Given the description of an element on the screen output the (x, y) to click on. 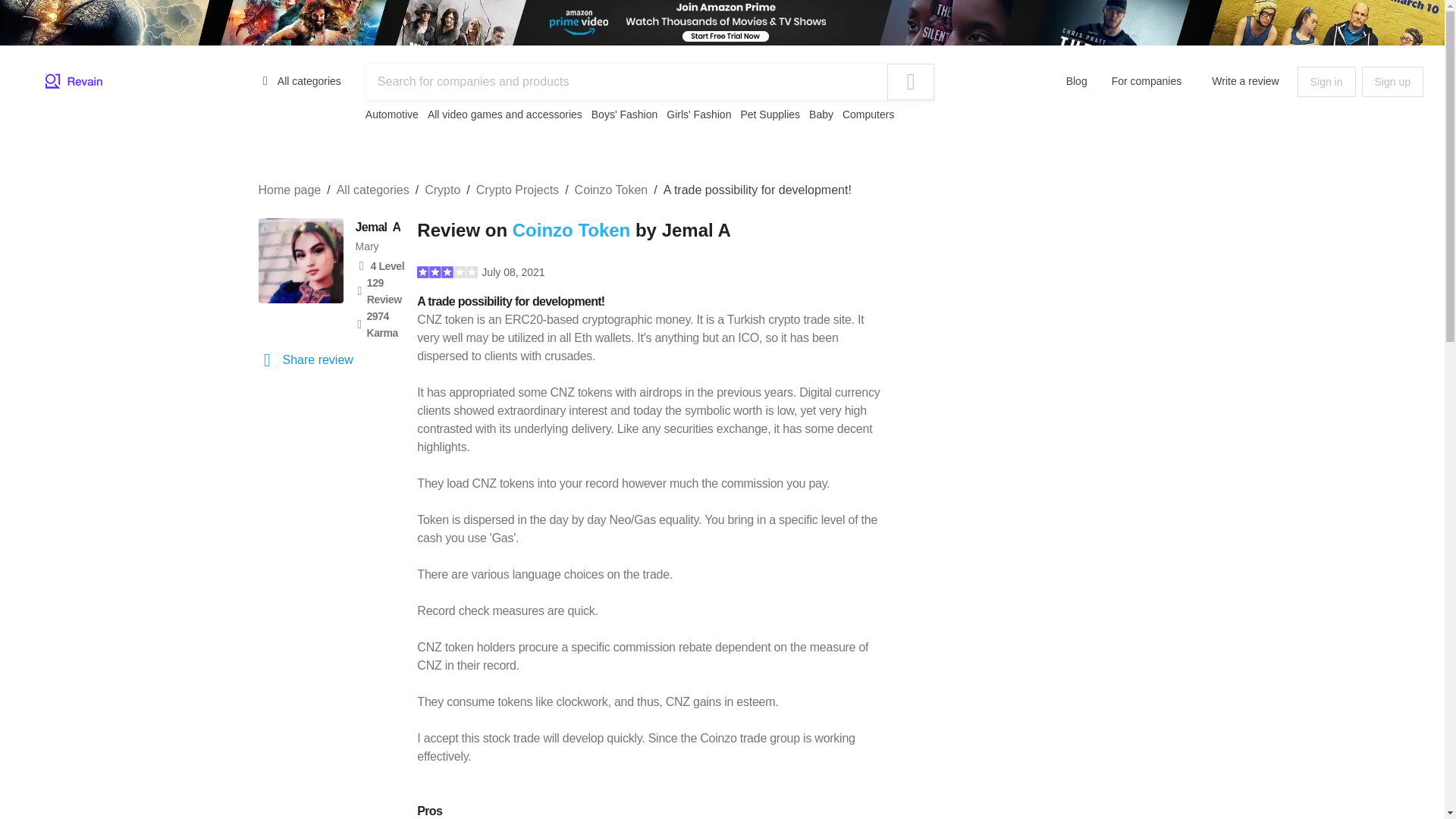
Computers (868, 113)
All categories (372, 190)
Crypto Projects (517, 190)
Blog (1076, 80)
Sign in (1326, 81)
Pet Supplies (769, 113)
Write a review (1244, 80)
Home page (288, 190)
All video games and accessories (505, 113)
Jemal A (377, 227)
Boys' Fashion (624, 113)
Home Page (74, 82)
All categories (300, 80)
Coinzo Token (611, 190)
Sign up (1392, 81)
